Given the description of an element on the screen output the (x, y) to click on. 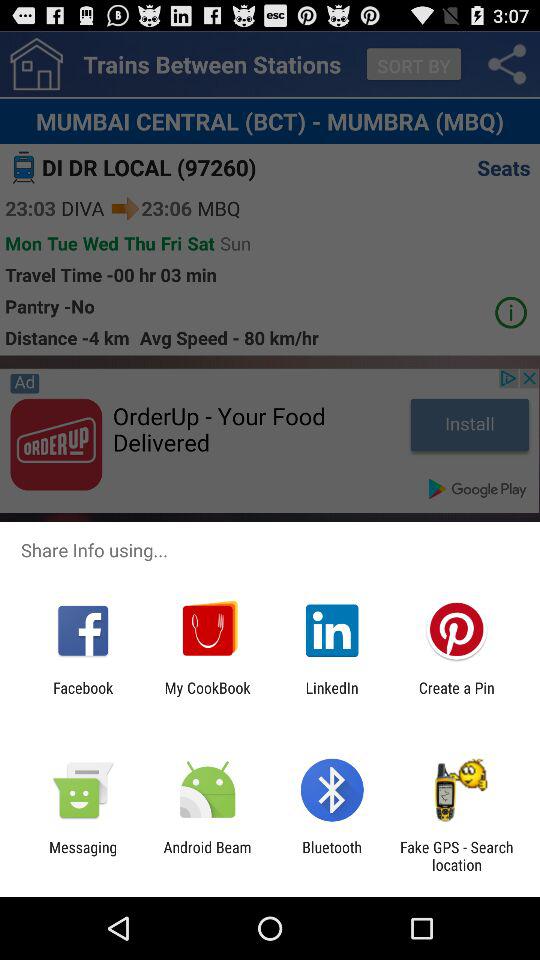
launch the item next to linkedin (456, 696)
